Given the description of an element on the screen output the (x, y) to click on. 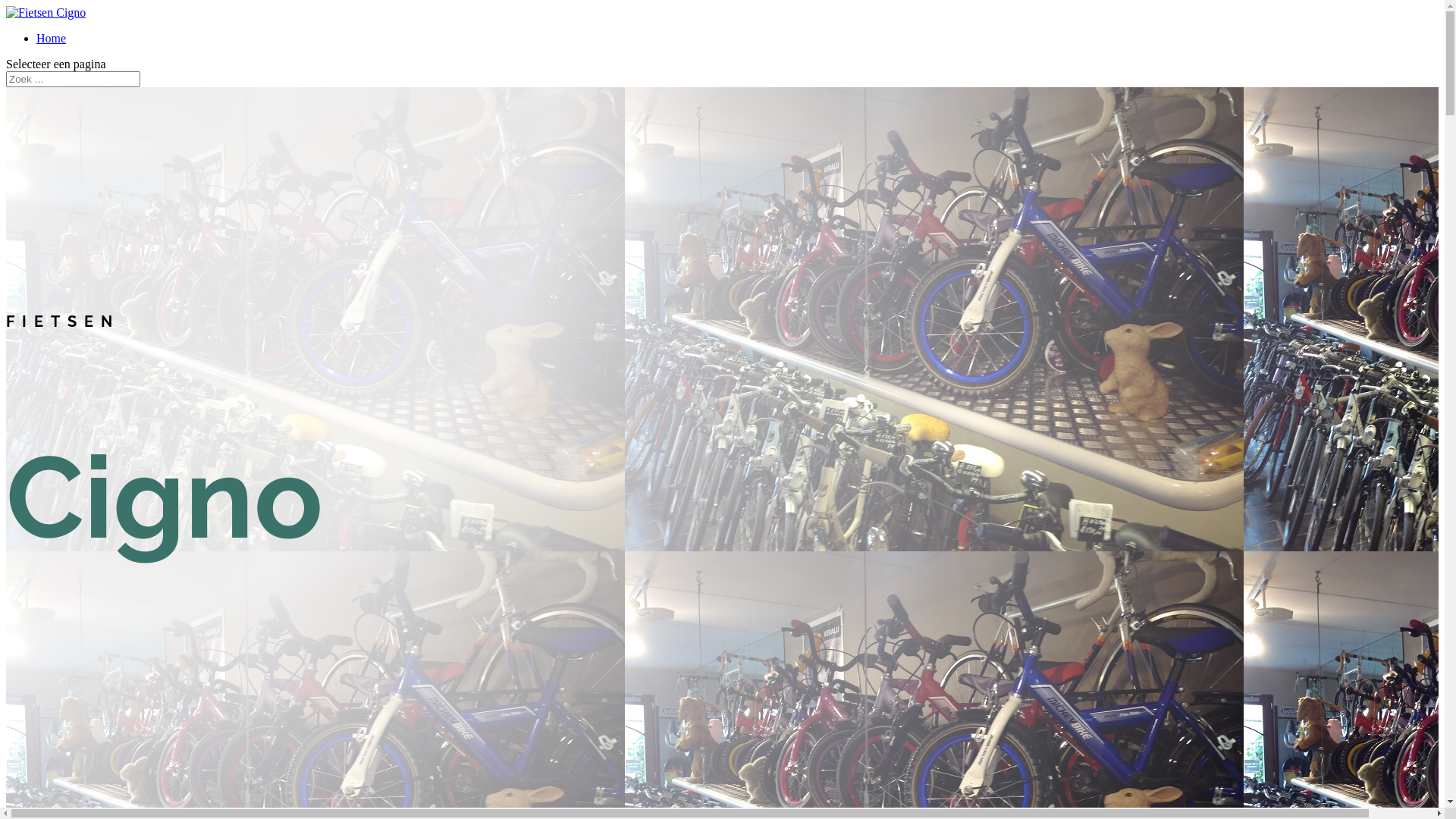
Home Element type: text (50, 37)
Zoek naar: Element type: hover (73, 79)
